Given the description of an element on the screen output the (x, y) to click on. 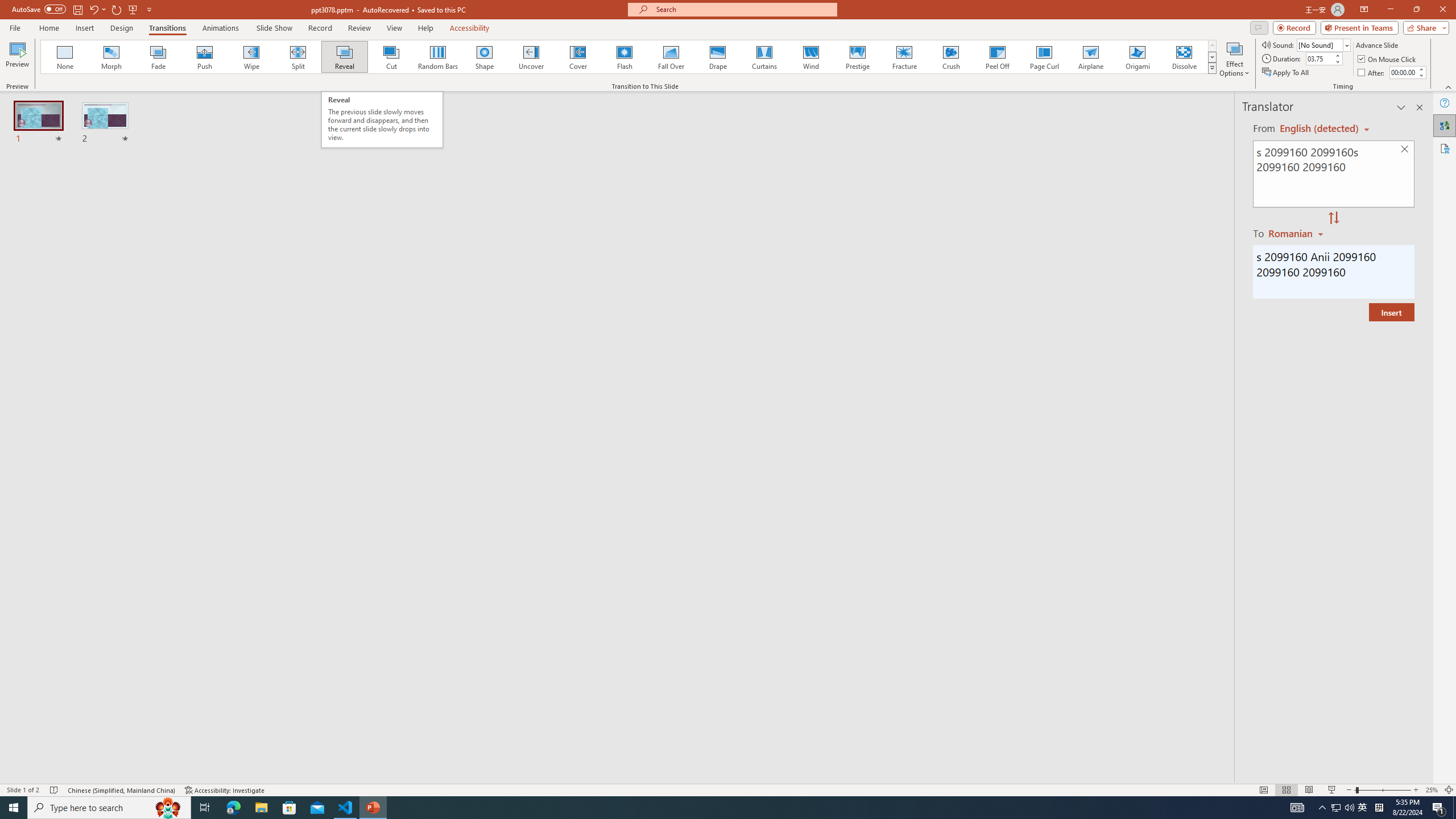
Zoom 25% (1431, 790)
Fade (158, 56)
Duration (1319, 58)
After (1403, 72)
